Given the description of an element on the screen output the (x, y) to click on. 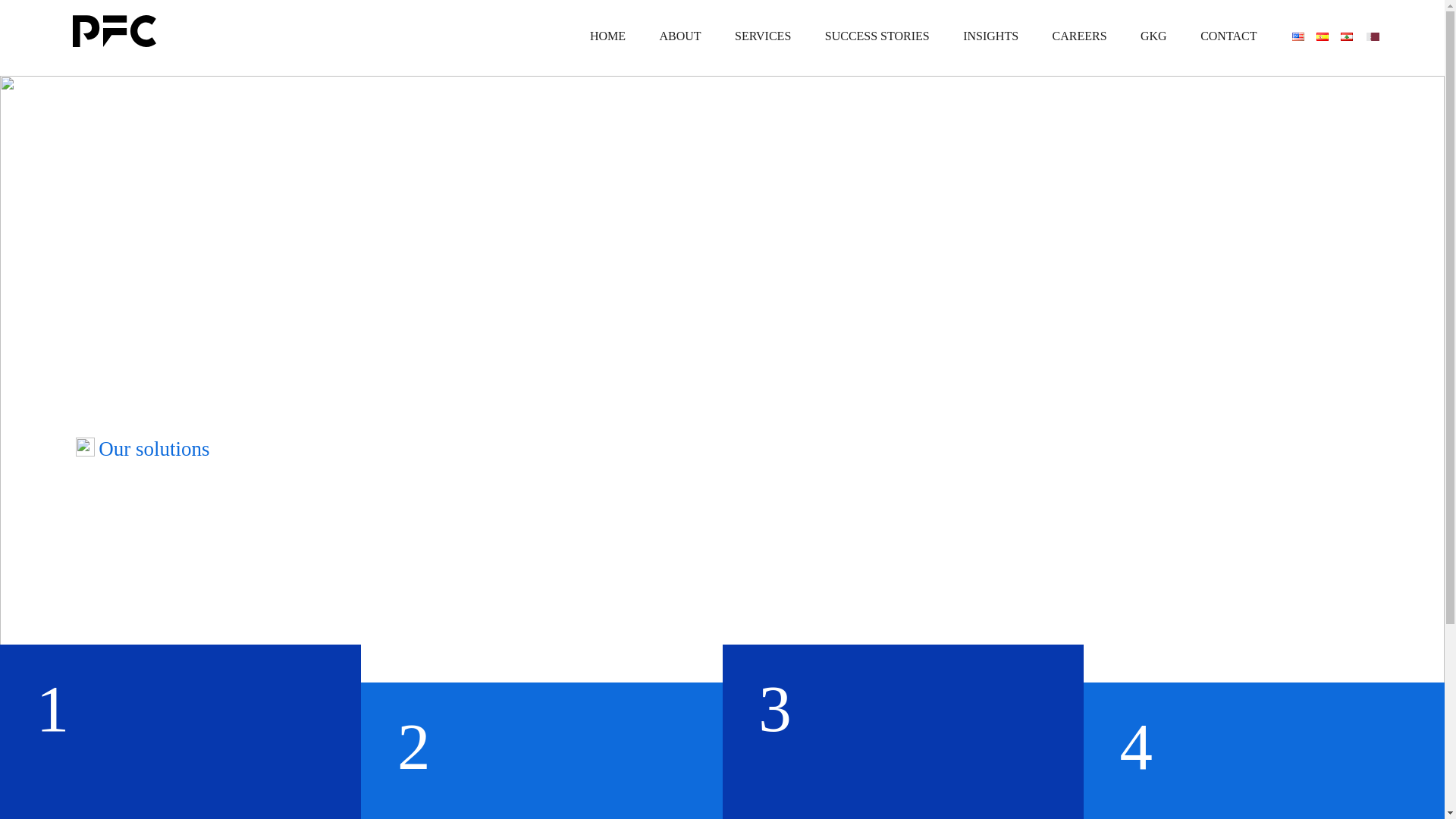
Our solutions (151, 449)
HOME (607, 36)
CAREERS (1079, 36)
GKG (1153, 36)
SERVICES (762, 36)
SUCCESS STORIES (876, 36)
INSIGHTS (990, 36)
ABOUT (679, 36)
CONTACT (1228, 36)
